Given the description of an element on the screen output the (x, y) to click on. 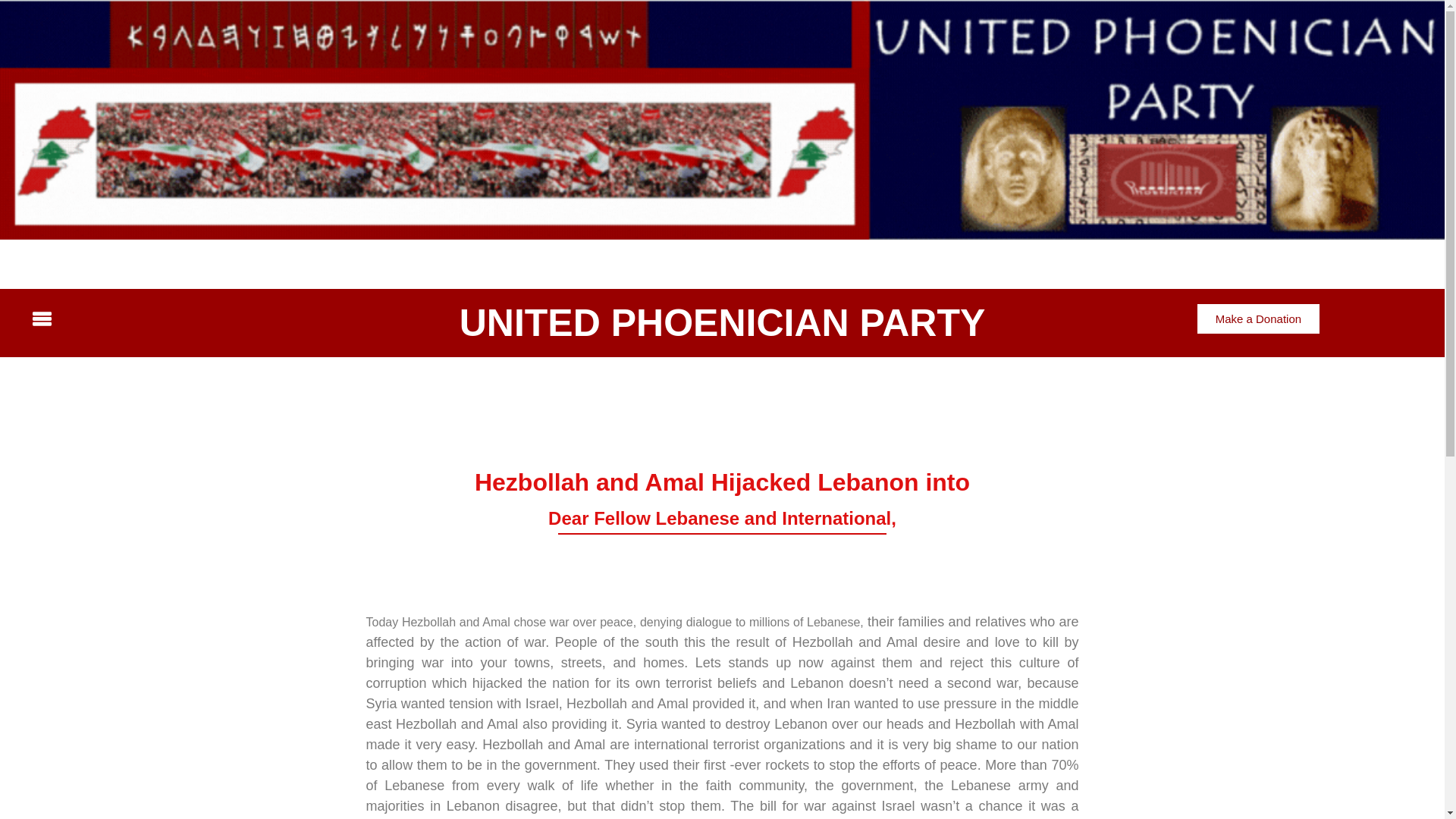
Make a Donation (1257, 318)
UNITED PHOENICIAN PARTY (722, 322)
